Given the description of an element on the screen output the (x, y) to click on. 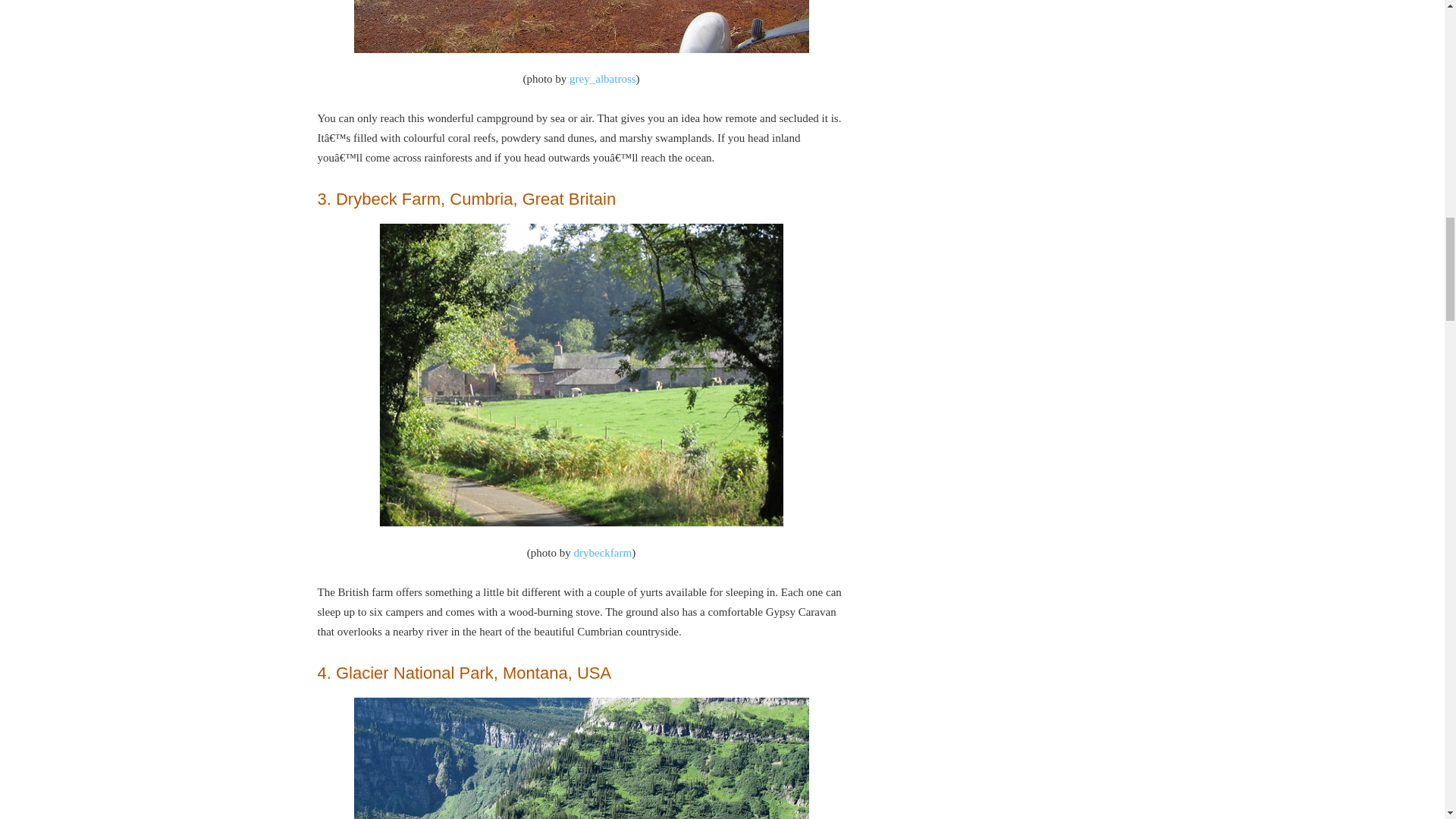
drybeckfarm (602, 552)
